Given the description of an element on the screen output the (x, y) to click on. 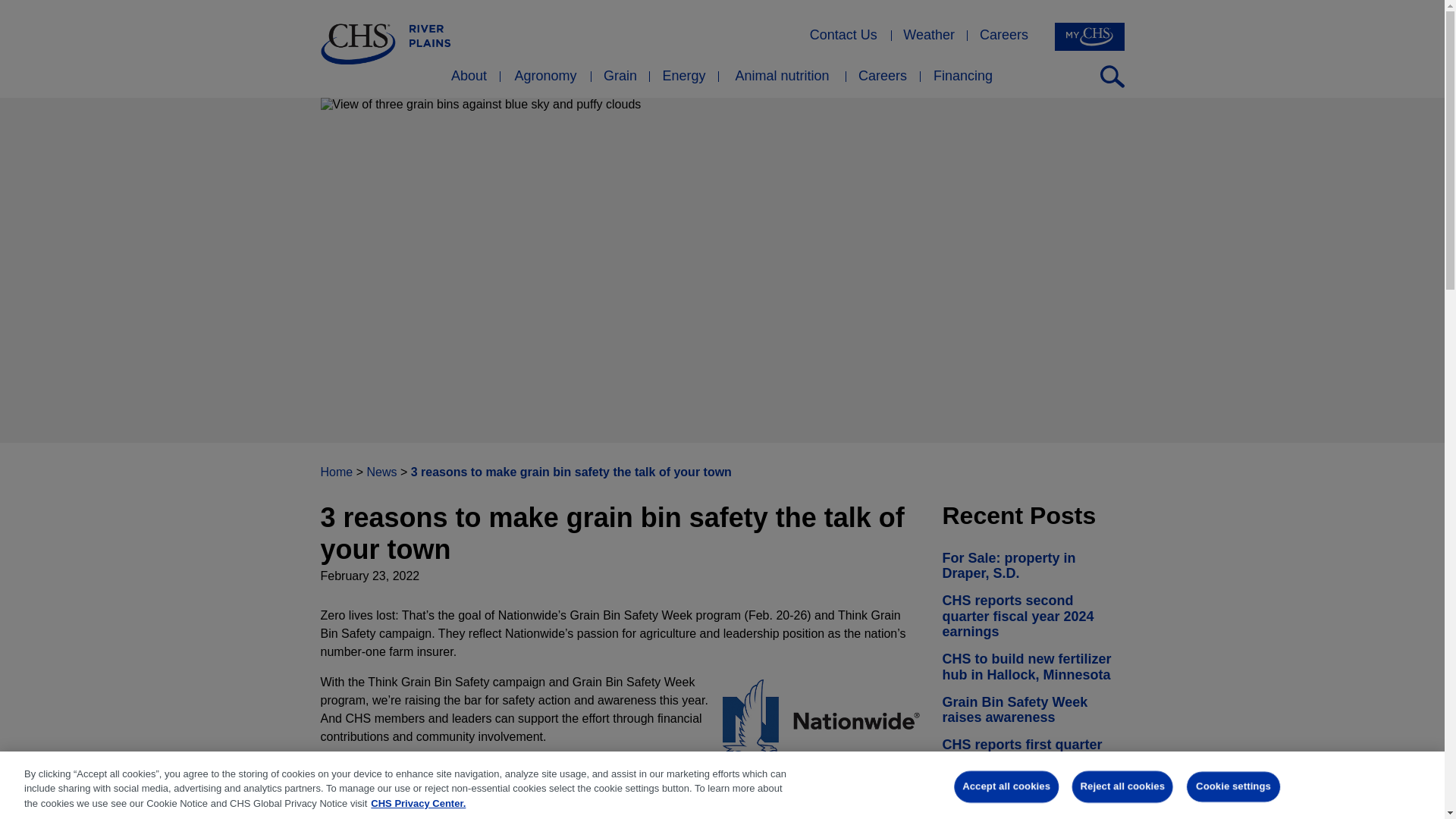
My CHS (1089, 36)
Open Search (1111, 76)
About (468, 80)
Energy (683, 80)
Agronomy (545, 80)
Search (1111, 76)
Grain (620, 80)
